Given the description of an element on the screen output the (x, y) to click on. 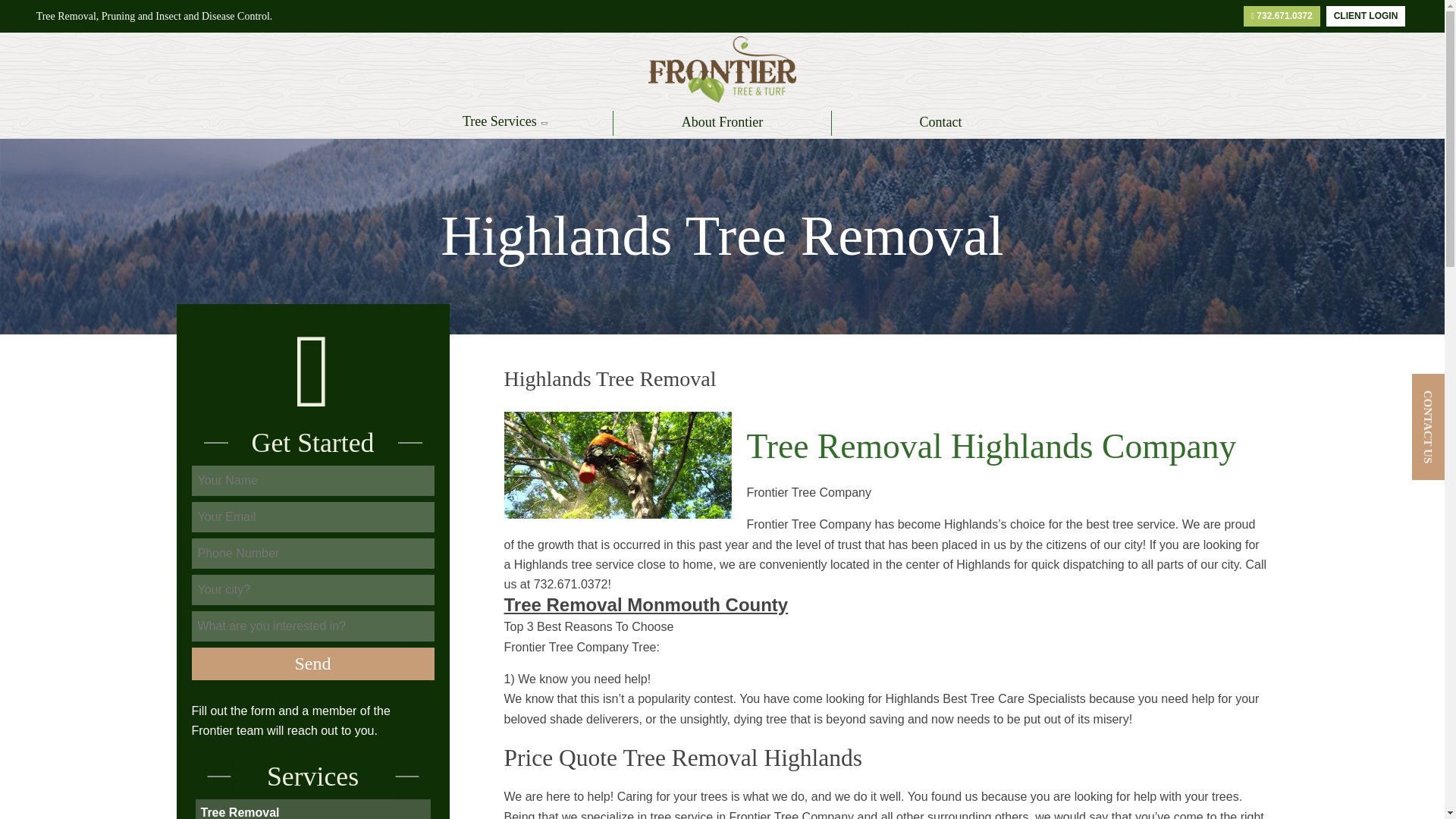
Tree Removal (239, 811)
Tree Removal Monmouth County (645, 604)
Contact (940, 122)
Tree Services (503, 122)
Send (311, 663)
About Frontier (721, 122)
732.671.0372 (1281, 15)
CLIENT LOGIN (1366, 15)
Send (311, 663)
